Given the description of an element on the screen output the (x, y) to click on. 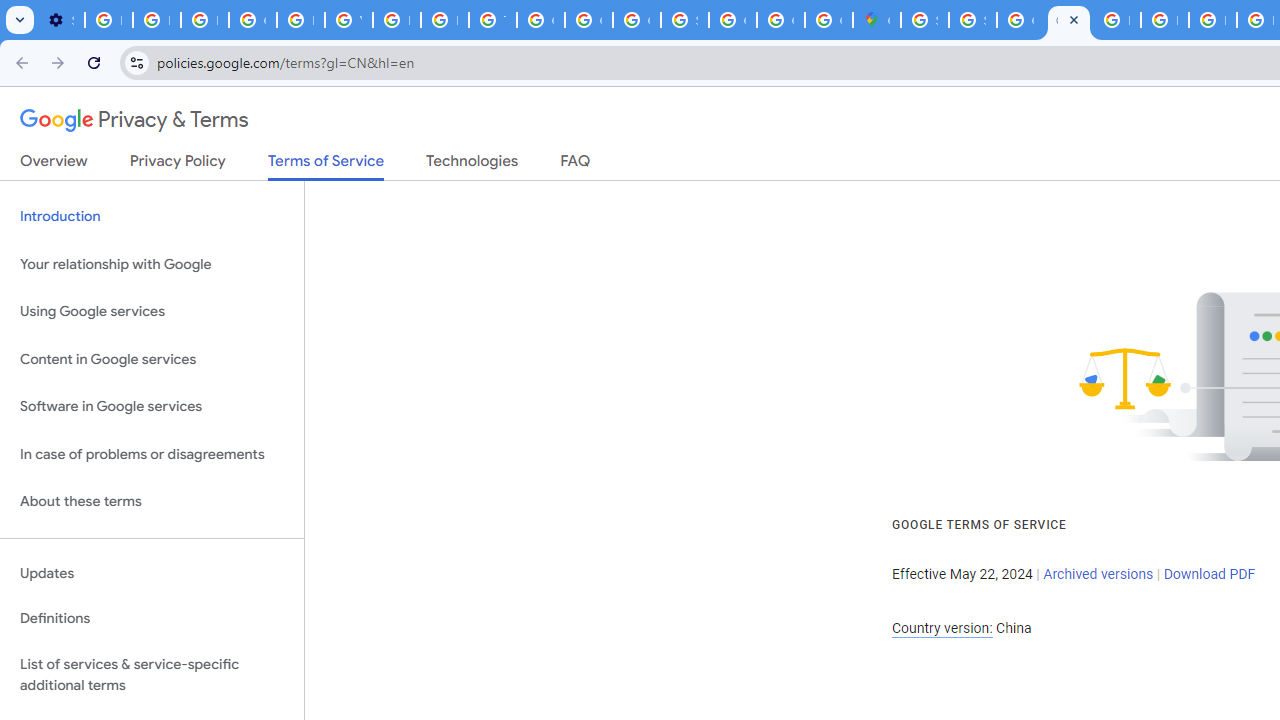
YouTube (348, 20)
Privacy Help Center - Policies Help (1164, 20)
